Given the description of an element on the screen output the (x, y) to click on. 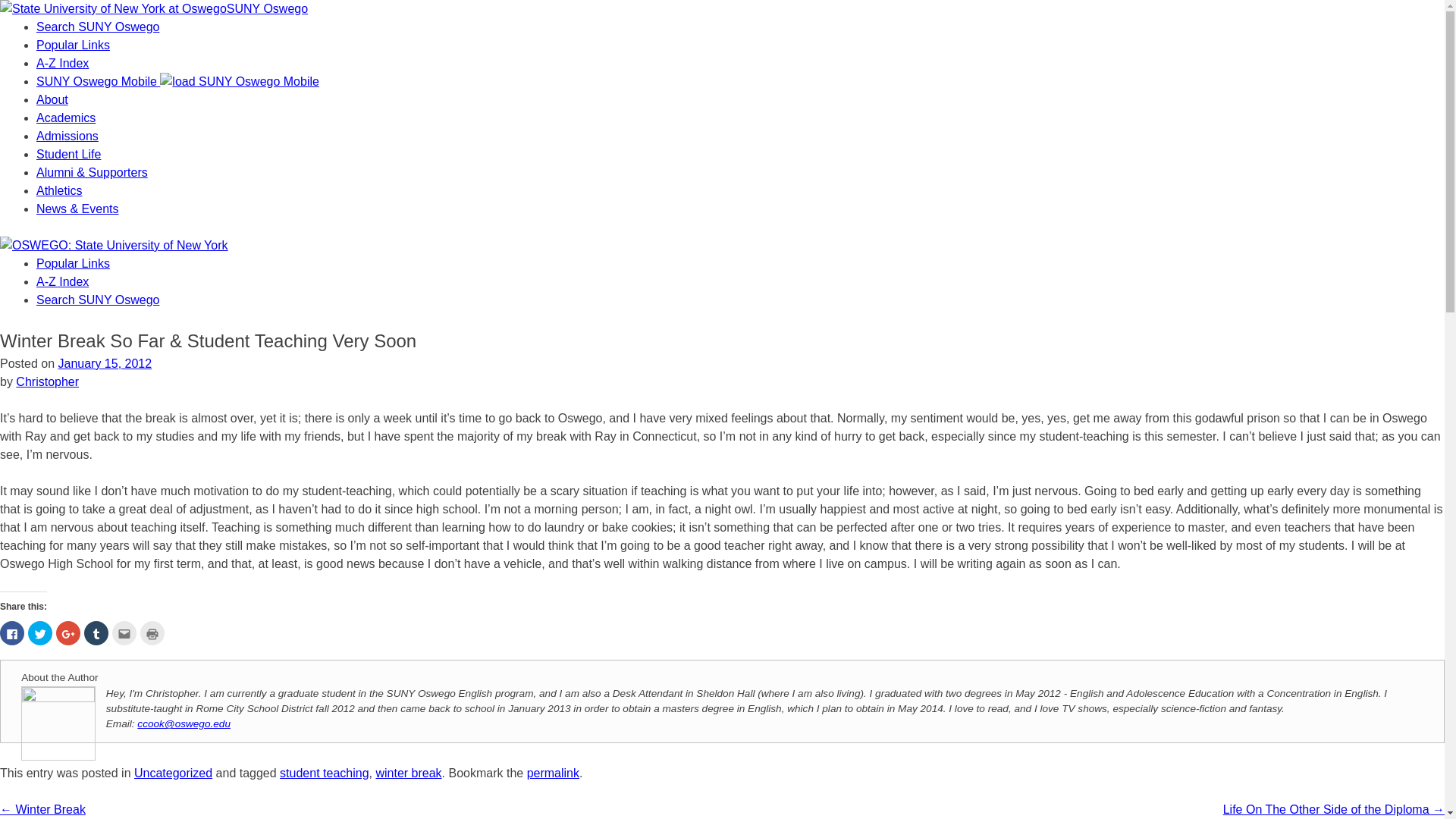
Student Life (68, 154)
About (52, 99)
Click to share on Facebook (12, 632)
Uncategorized (172, 772)
Search SUNY Oswego (97, 26)
Search SUNY Oswego (97, 299)
Popular Links (73, 263)
student teaching (323, 772)
SUNY Oswego Mobile (177, 81)
January 15, 2012 (104, 363)
Click to share on Twitter (39, 632)
Christopher (47, 381)
Admissions (67, 135)
1:09 am (104, 363)
A-Z Index (62, 62)
